Given the description of an element on the screen output the (x, y) to click on. 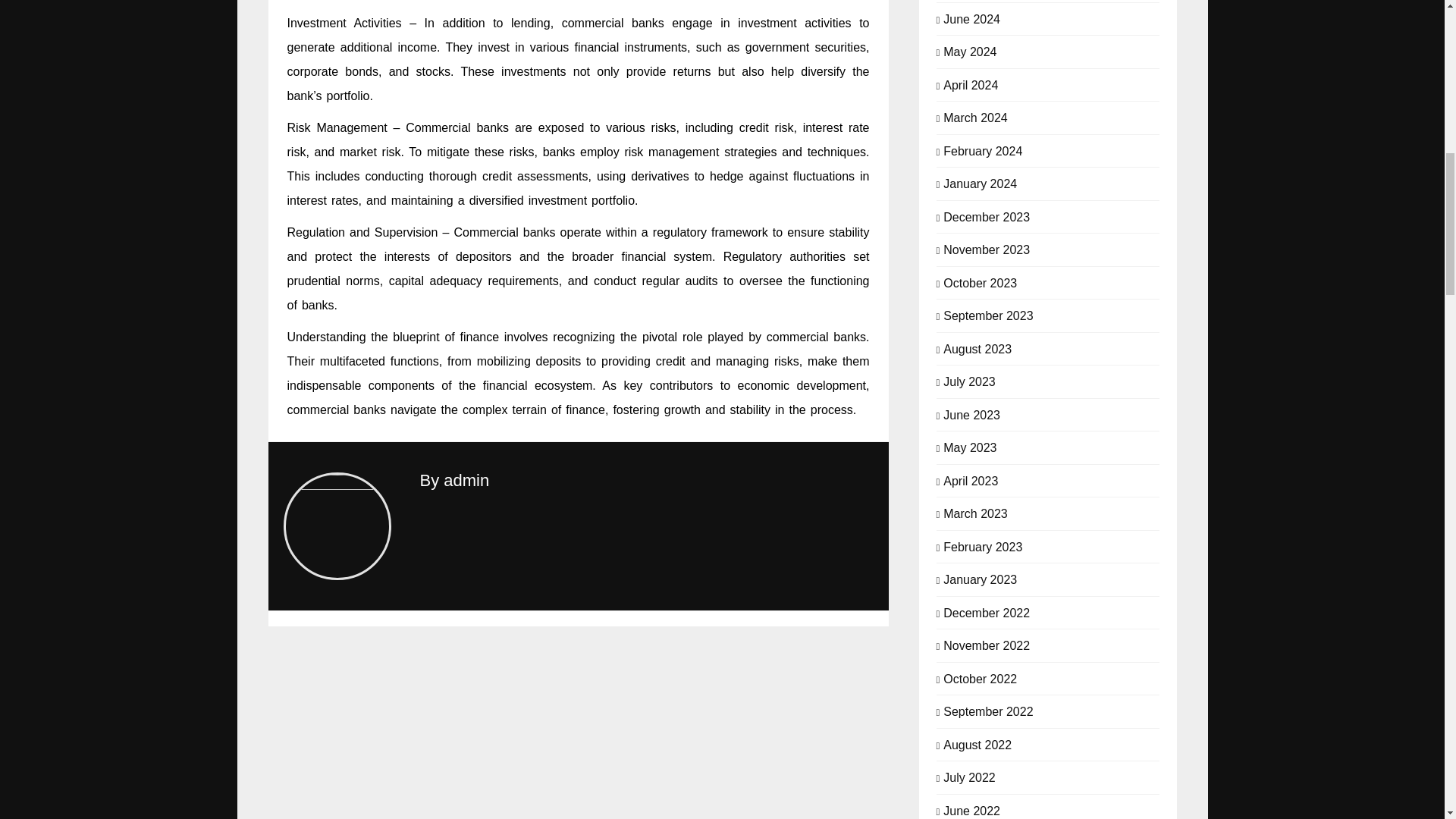
October 2022 (979, 677)
June 2022 (971, 809)
November 2022 (986, 644)
January 2024 (979, 182)
August 2023 (977, 346)
December 2022 (986, 611)
March 2023 (975, 512)
November 2023 (986, 248)
September 2022 (987, 710)
June 2024 (971, 17)
February 2023 (982, 545)
October 2023 (979, 281)
February 2024 (982, 150)
July 2023 (969, 380)
December 2023 (986, 215)
